Given the description of an element on the screen output the (x, y) to click on. 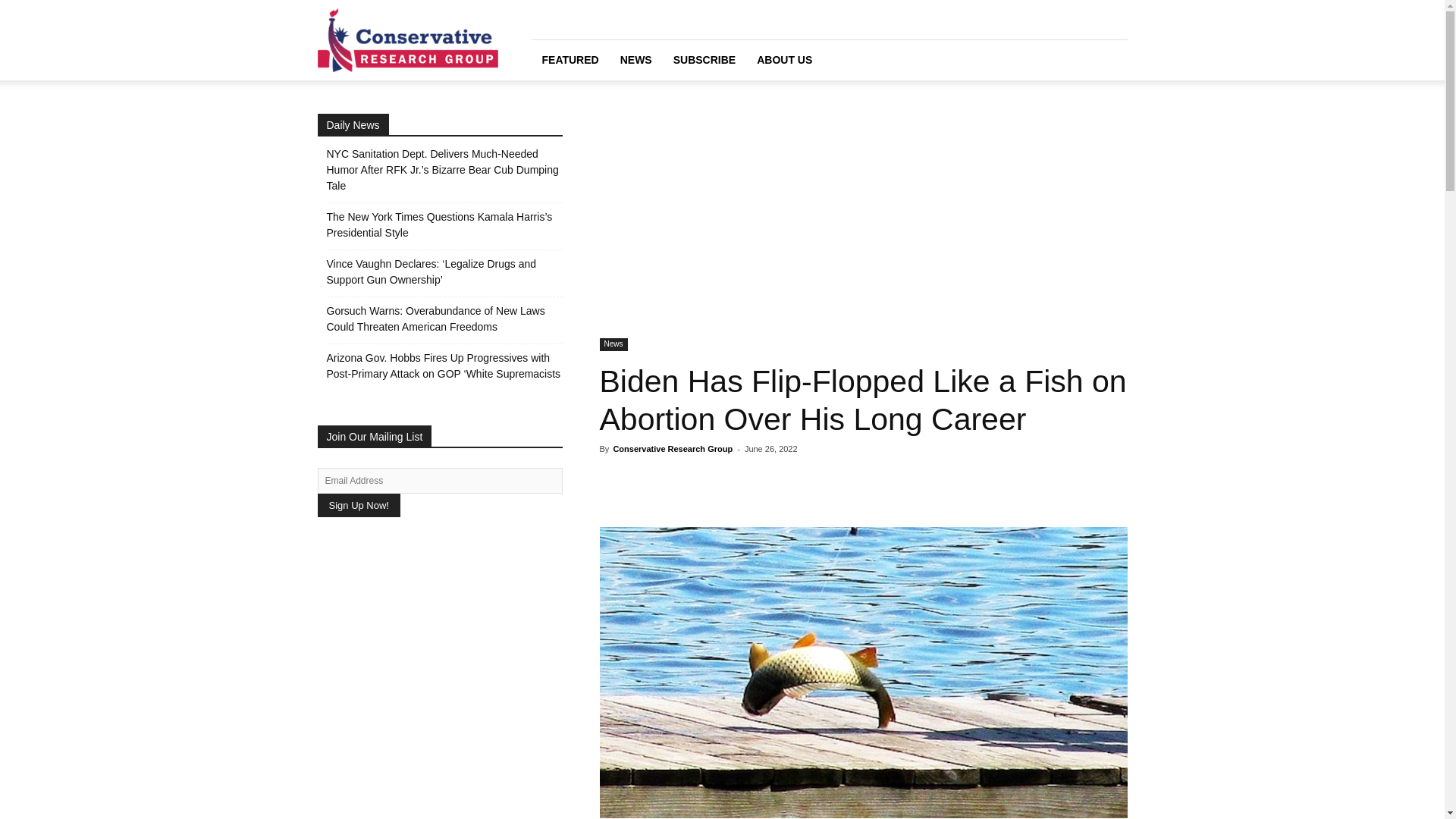
NEWS (636, 60)
News (612, 344)
ABOUT US (783, 60)
Advertisement (862, 225)
Conservative Research Group (672, 448)
FEATURED (569, 60)
Sign Up Now! (357, 504)
SUBSCRIBE (703, 60)
